Given the description of an element on the screen output the (x, y) to click on. 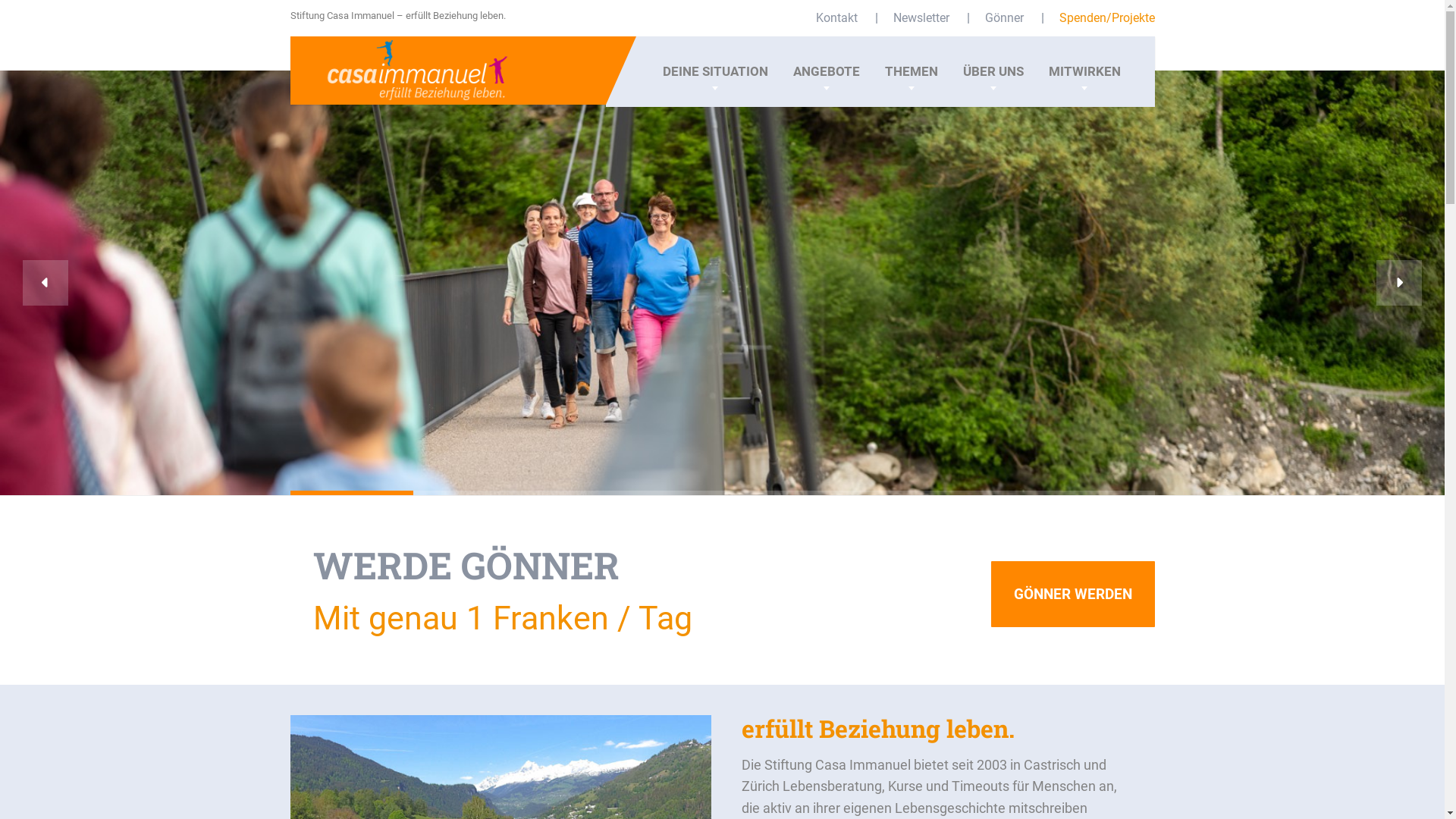
MITWIRKEN Element type: text (1084, 71)
ANGEBOTE Element type: text (825, 71)
Kontakt Element type: text (837, 18)
THEMEN Element type: text (911, 71)
Casa Immanuel Element type: hover (398, 68)
Newsletter Element type: text (922, 18)
DEINE SITUATION Element type: text (714, 71)
Spenden/Projekte Element type: text (1106, 18)
